Given the description of an element on the screen output the (x, y) to click on. 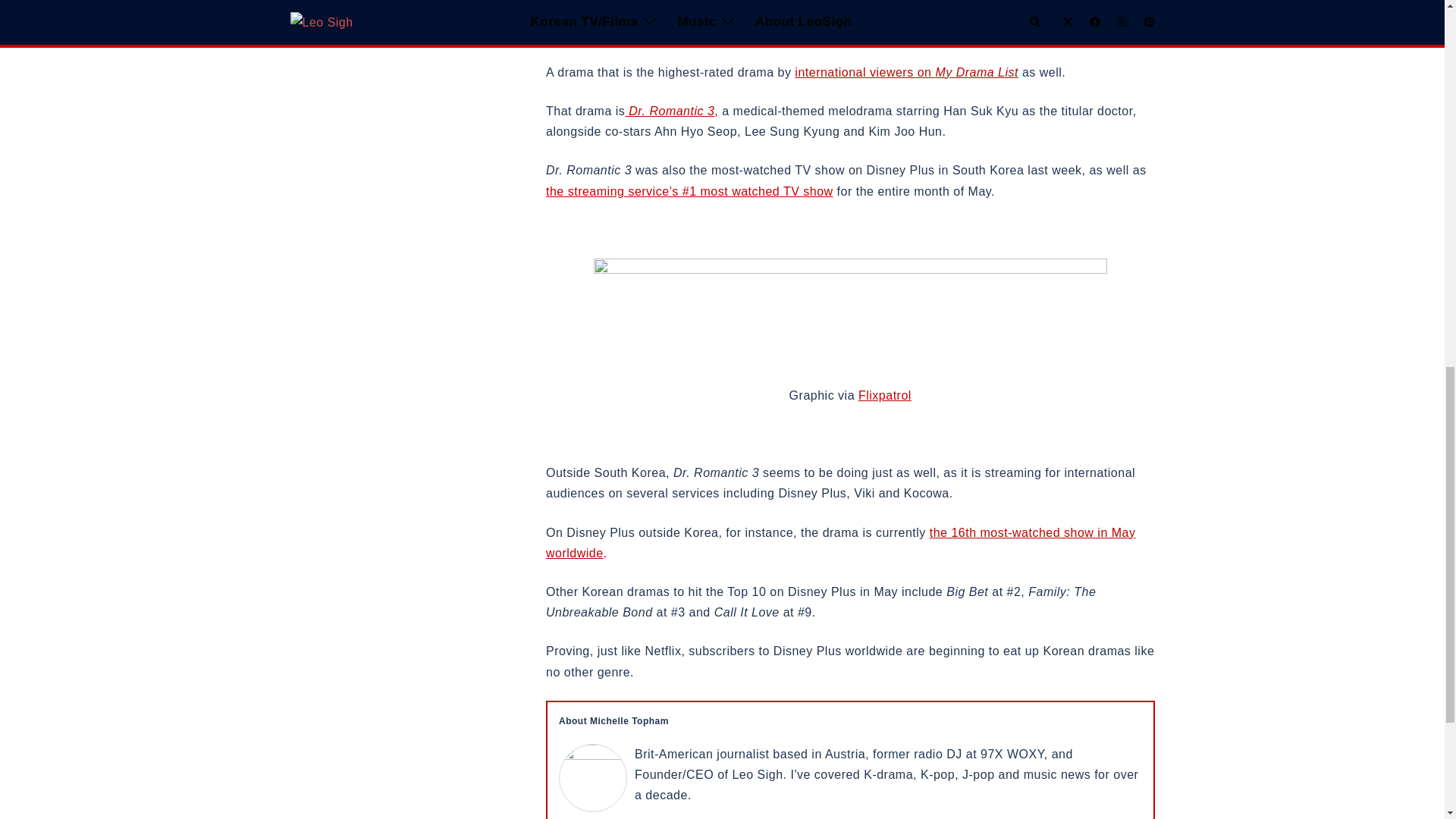
the 16th most-watched show in May worldwide (840, 542)
Dr. Romantic 3 (669, 110)
Flixpatrol (885, 395)
international viewers on My Drama List (905, 72)
